Given the description of an element on the screen output the (x, y) to click on. 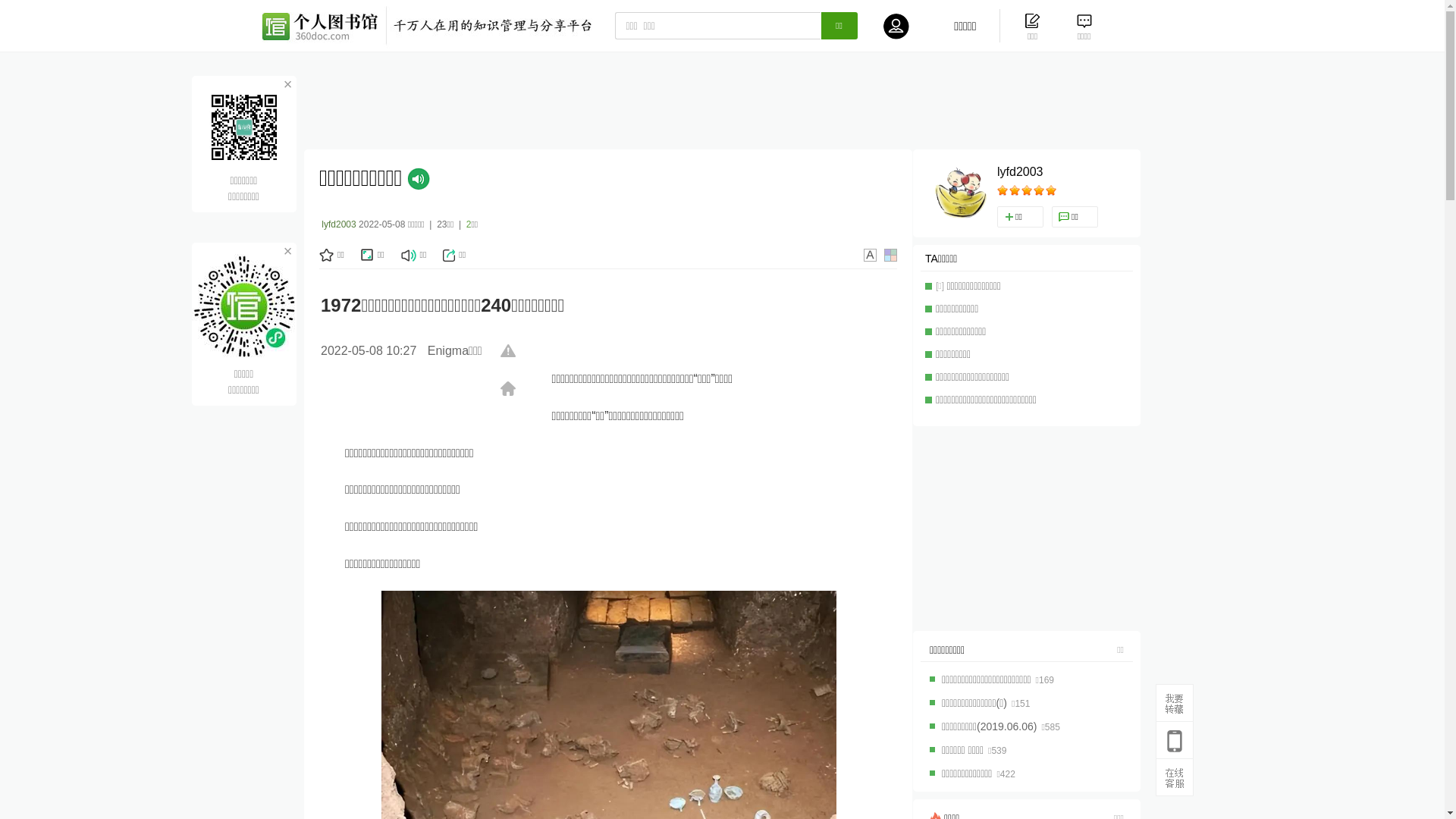
lyfd2003 Element type: text (338, 224)
lyfd2003 Element type: text (1020, 172)
